Given the description of an element on the screen output the (x, y) to click on. 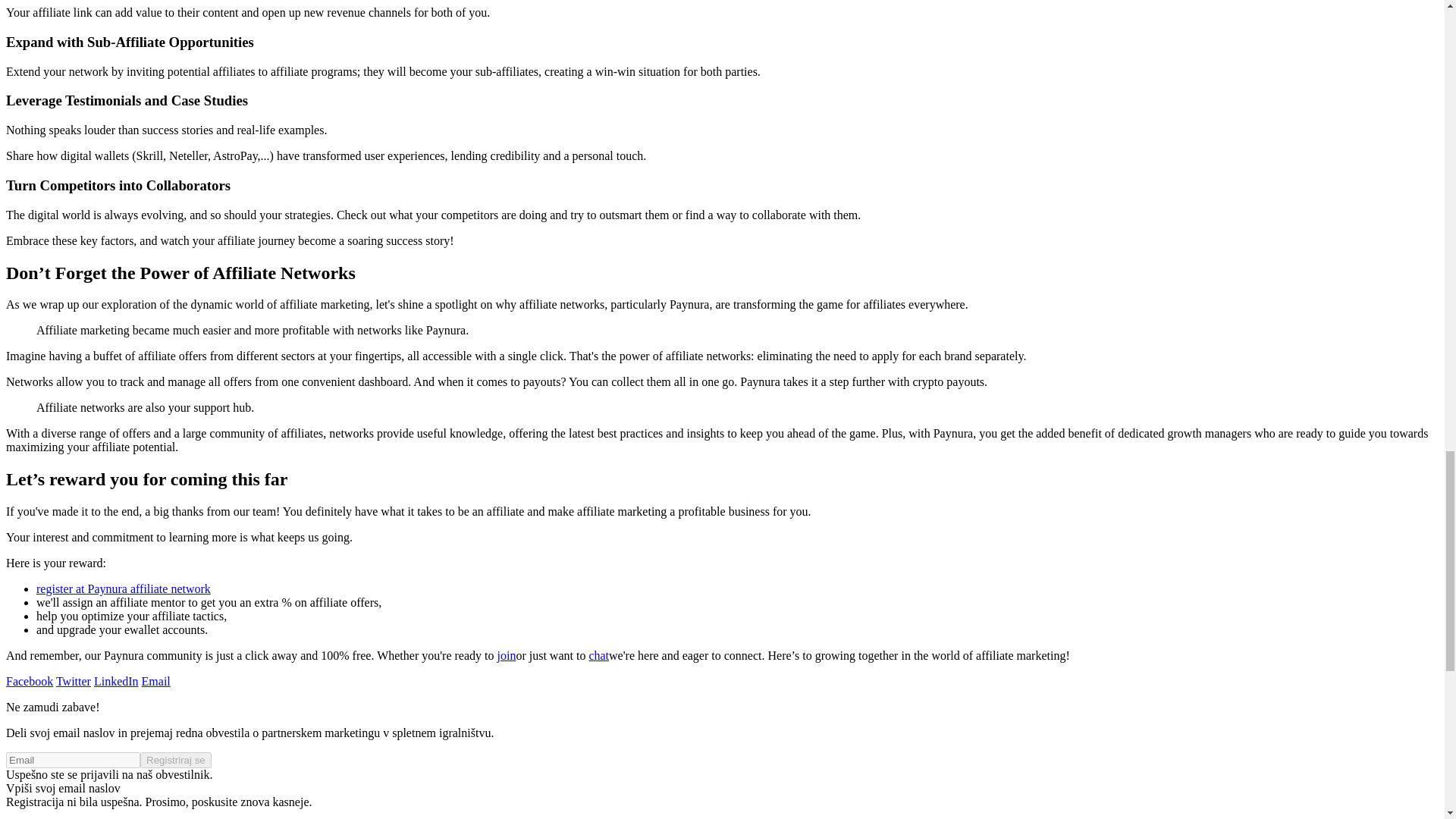
chat (598, 655)
LinkedIn (116, 680)
Facebook (28, 680)
join (506, 655)
Registriraj se (175, 760)
Email (155, 680)
Twitter (73, 680)
register at Paynura affiliate network (123, 588)
